Given the description of an element on the screen output the (x, y) to click on. 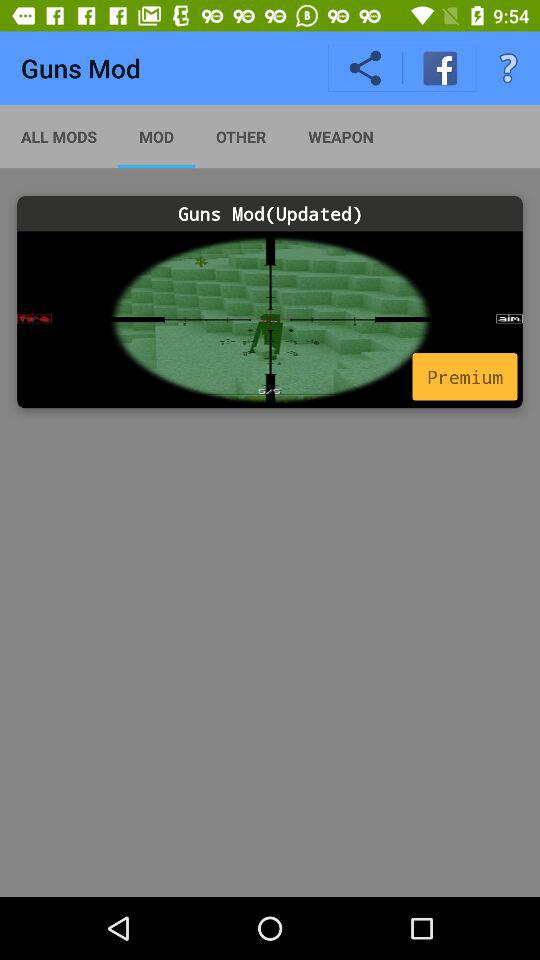
launch item next to other icon (340, 136)
